Given the description of an element on the screen output the (x, y) to click on. 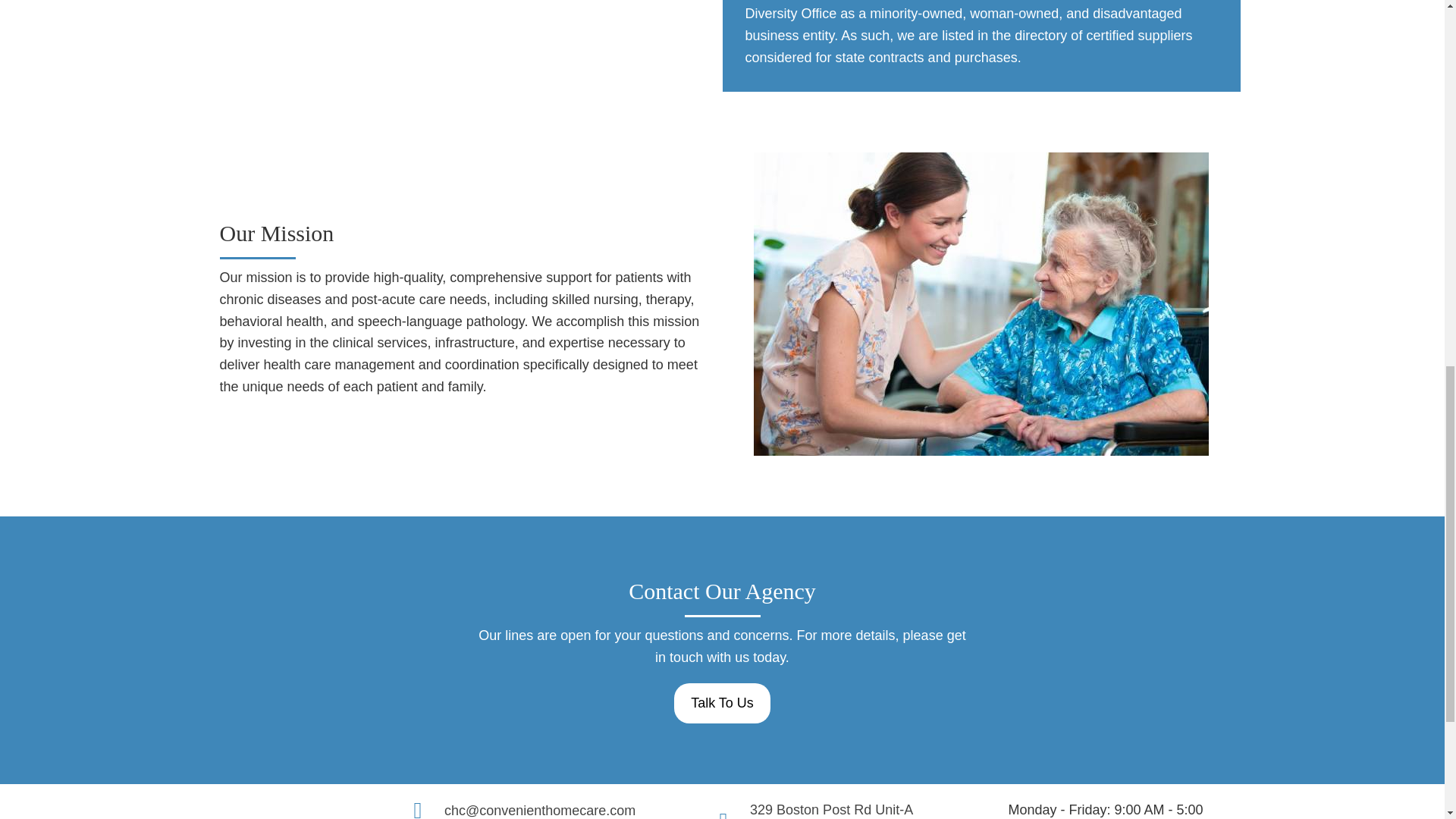
Talk To Us (722, 703)
logo2-300x103 (830, 810)
